Given the description of an element on the screen output the (x, y) to click on. 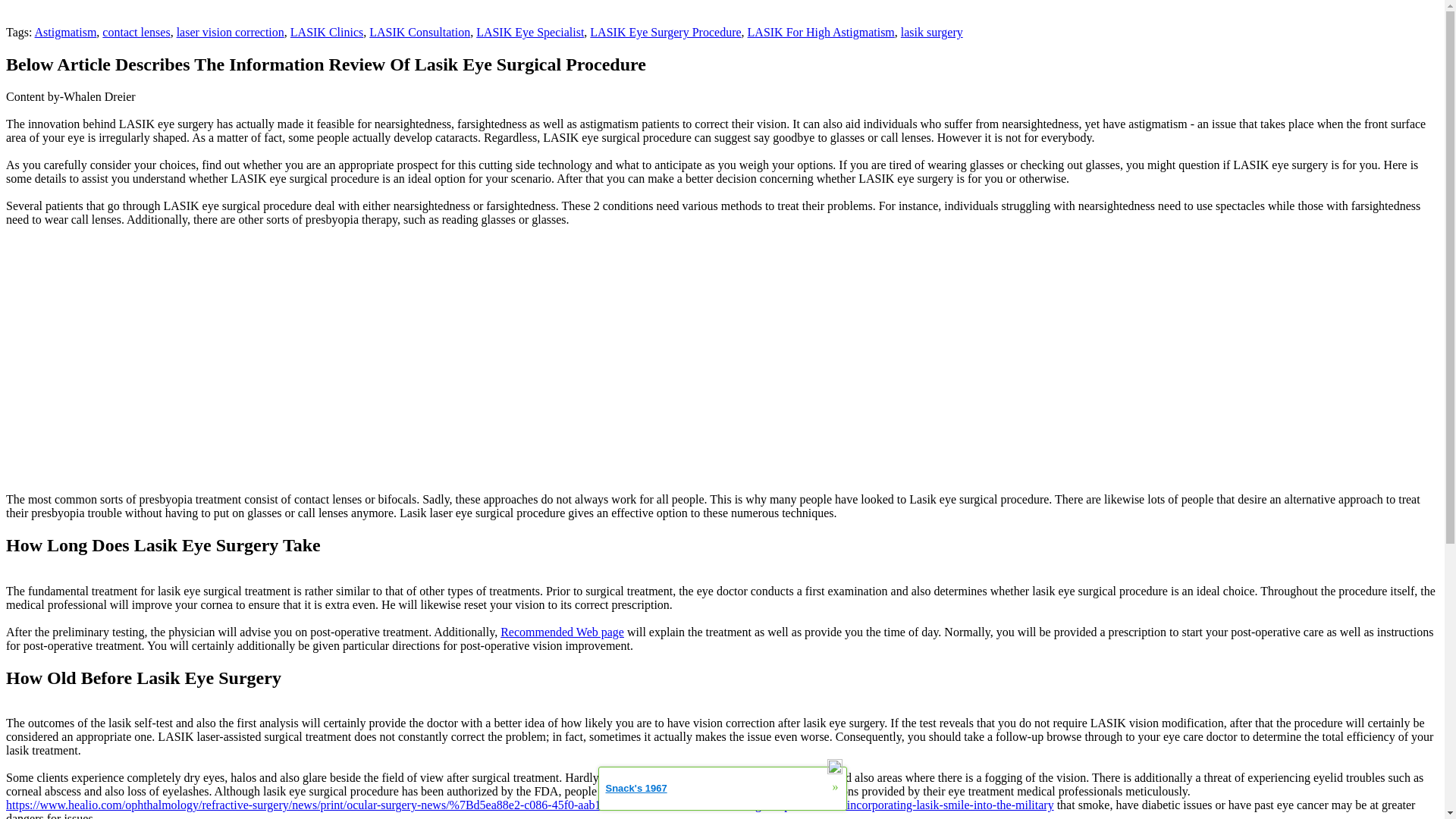
Astigmatism (65, 31)
Recommended Web page (562, 631)
LASIK Eye Specialist (529, 31)
contact lenses (135, 31)
LASIK For High Astigmatism (821, 31)
laser vision correction (229, 31)
LASIK Clinics (325, 31)
LASIK Consultation (419, 31)
lasik surgery (931, 31)
LASIK Eye Surgery Procedure (665, 31)
